Given the description of an element on the screen output the (x, y) to click on. 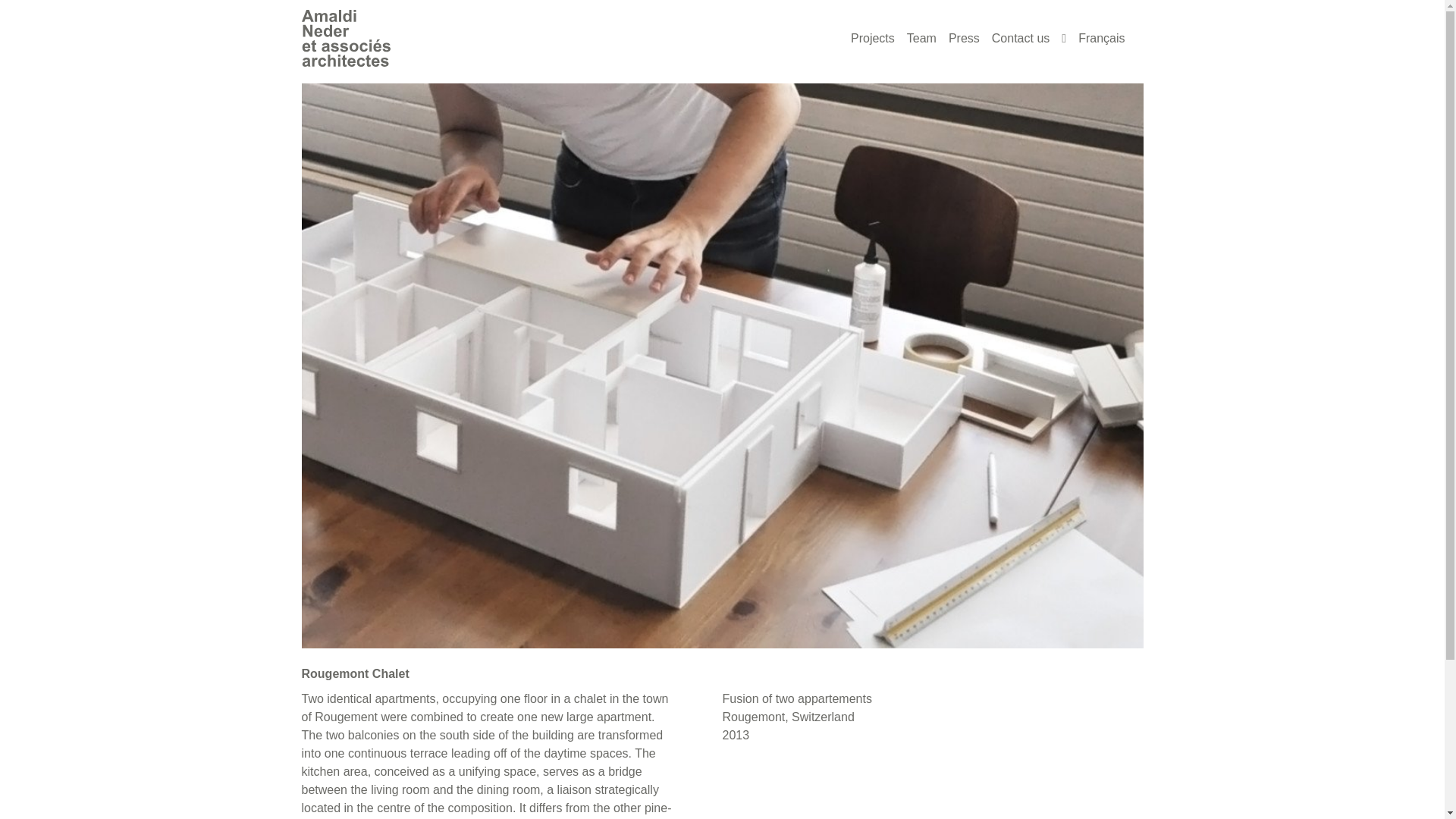
Press (963, 37)
Team (921, 37)
Projects (872, 37)
Projects (872, 37)
Press (963, 37)
Team (921, 37)
Contact us (1020, 37)
Contact us (1020, 37)
